Given the description of an element on the screen output the (x, y) to click on. 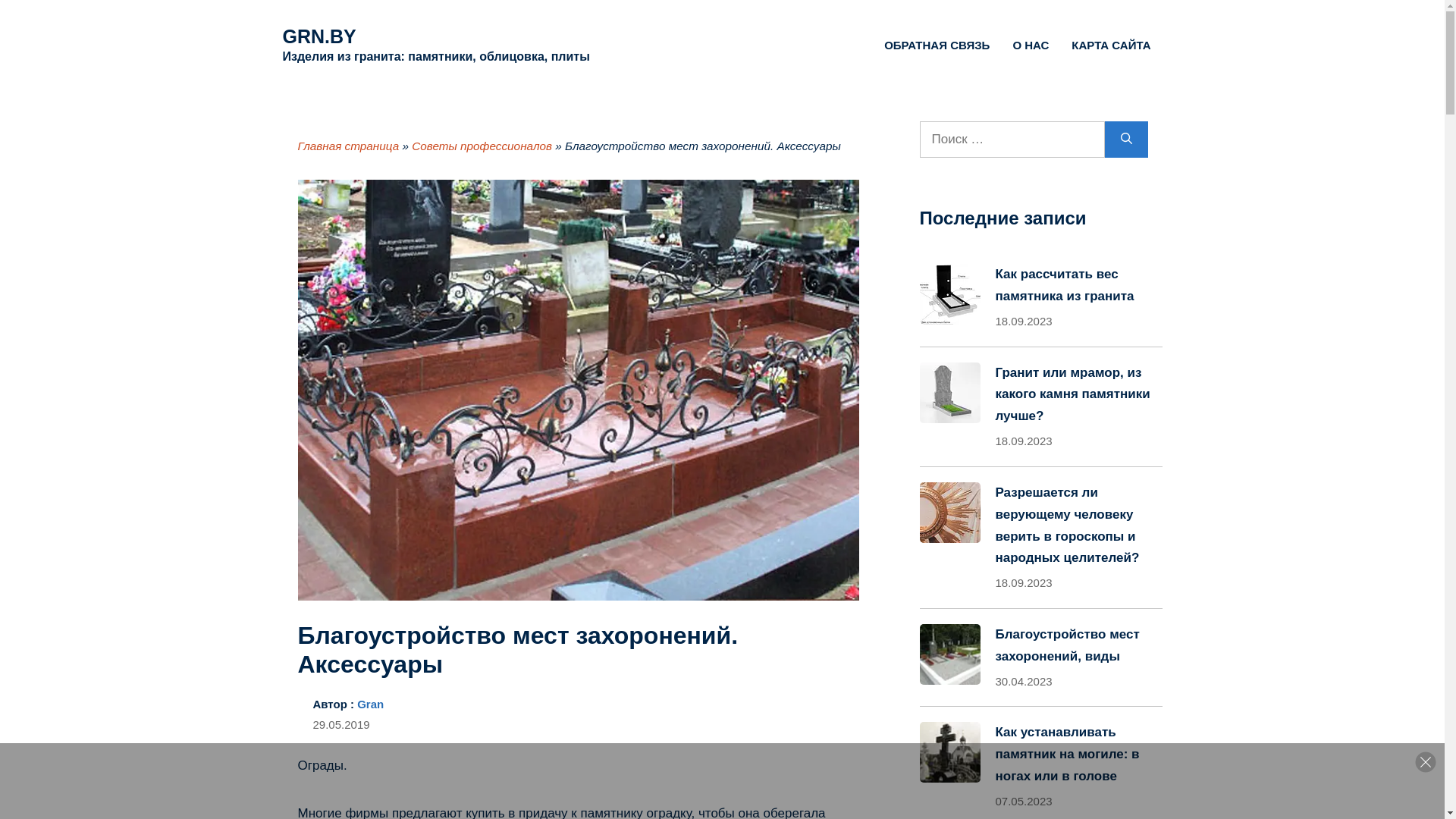
Gran Element type: text (370, 703)
GRN.BY Element type: text (318, 36)
